Given the description of an element on the screen output the (x, y) to click on. 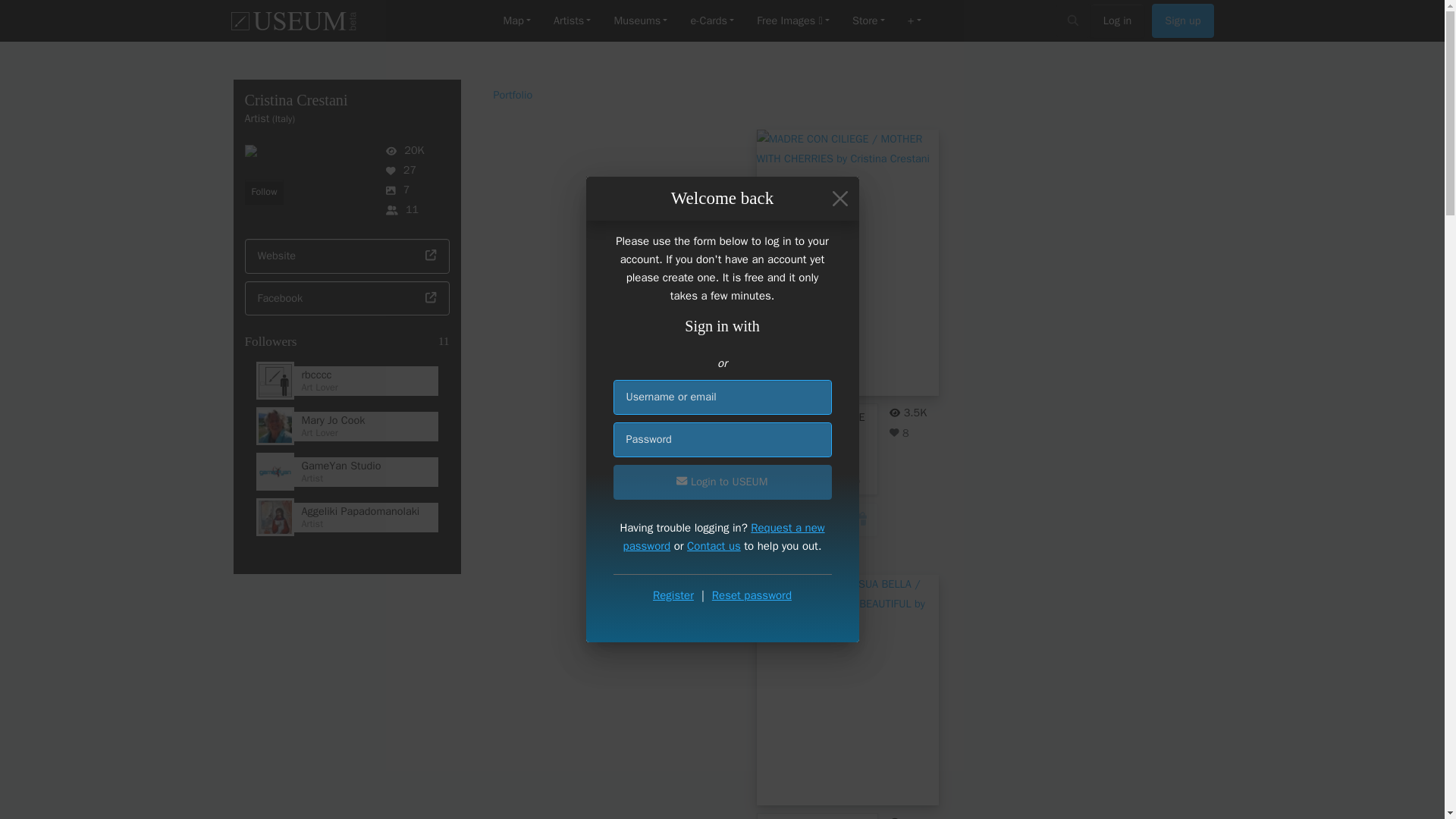
e-Cards (711, 20)
Museums (640, 20)
Artists (571, 20)
Toggle search form visibility (1073, 20)
Map (516, 20)
Log in (1117, 21)
Store (868, 20)
